Given the description of an element on the screen output the (x, y) to click on. 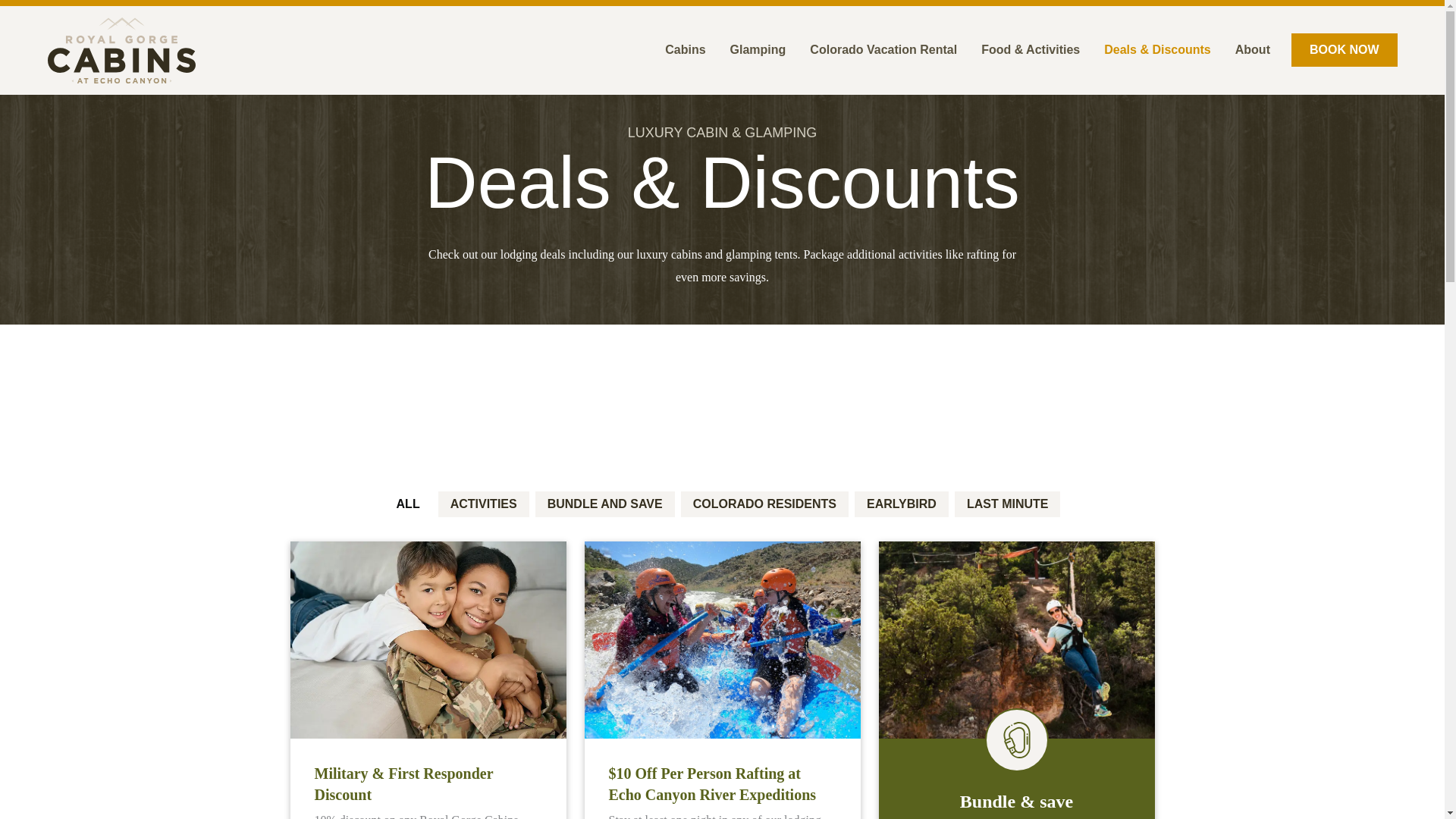
BOOK NOW (1344, 49)
Glamping (757, 49)
Cabins (684, 49)
Colorado Vacation Rental (883, 49)
About (1252, 49)
